Given the description of an element on the screen output the (x, y) to click on. 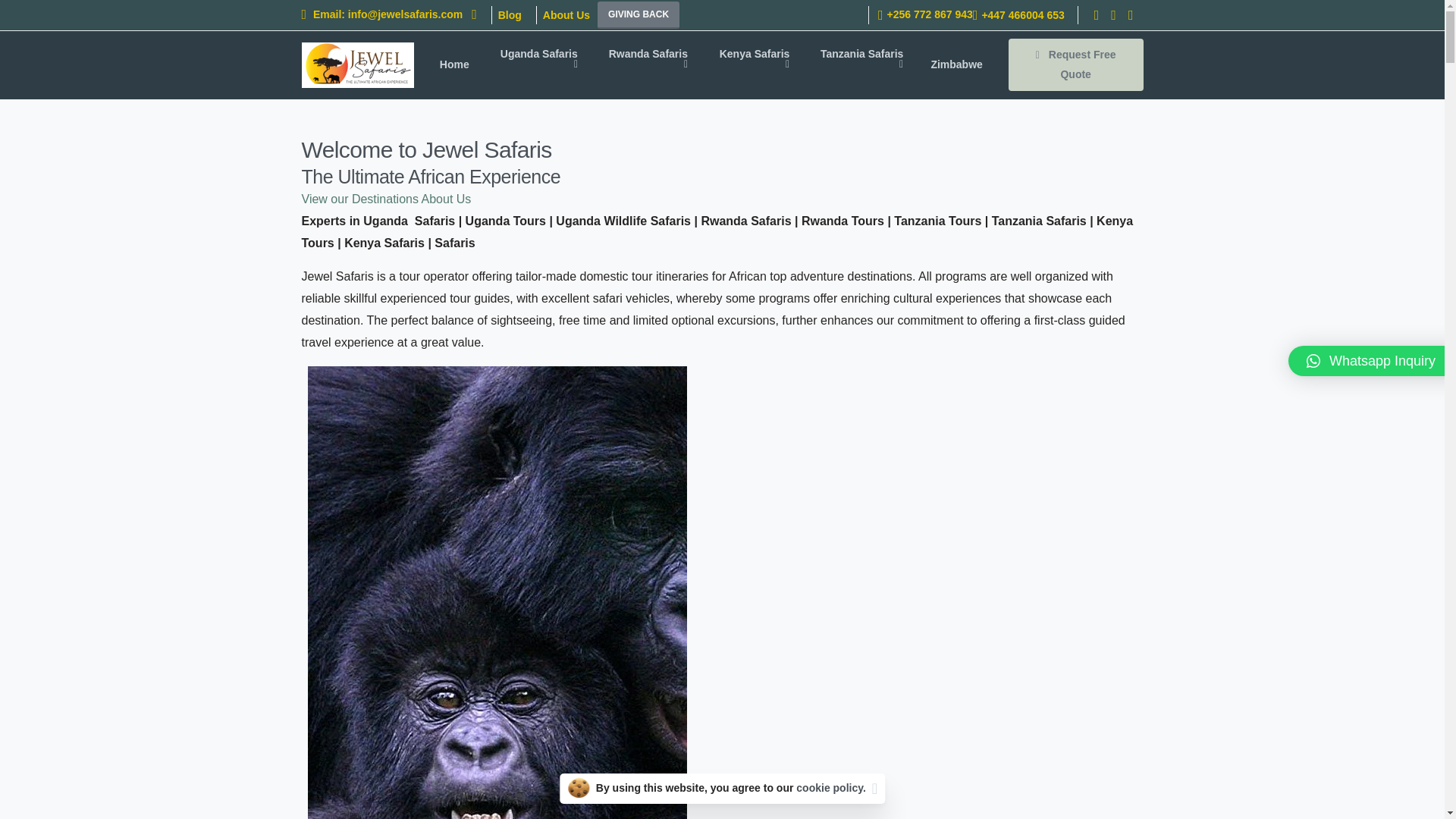
GIVING BACK (637, 14)
Uganda Safaris (536, 64)
Home (454, 64)
About Us (566, 15)
Instagram (1131, 15)
Home (454, 64)
Blog (509, 15)
X (1113, 15)
Rwanda Safaris (646, 64)
Uganda Safaris (536, 64)
